Given the description of an element on the screen output the (x, y) to click on. 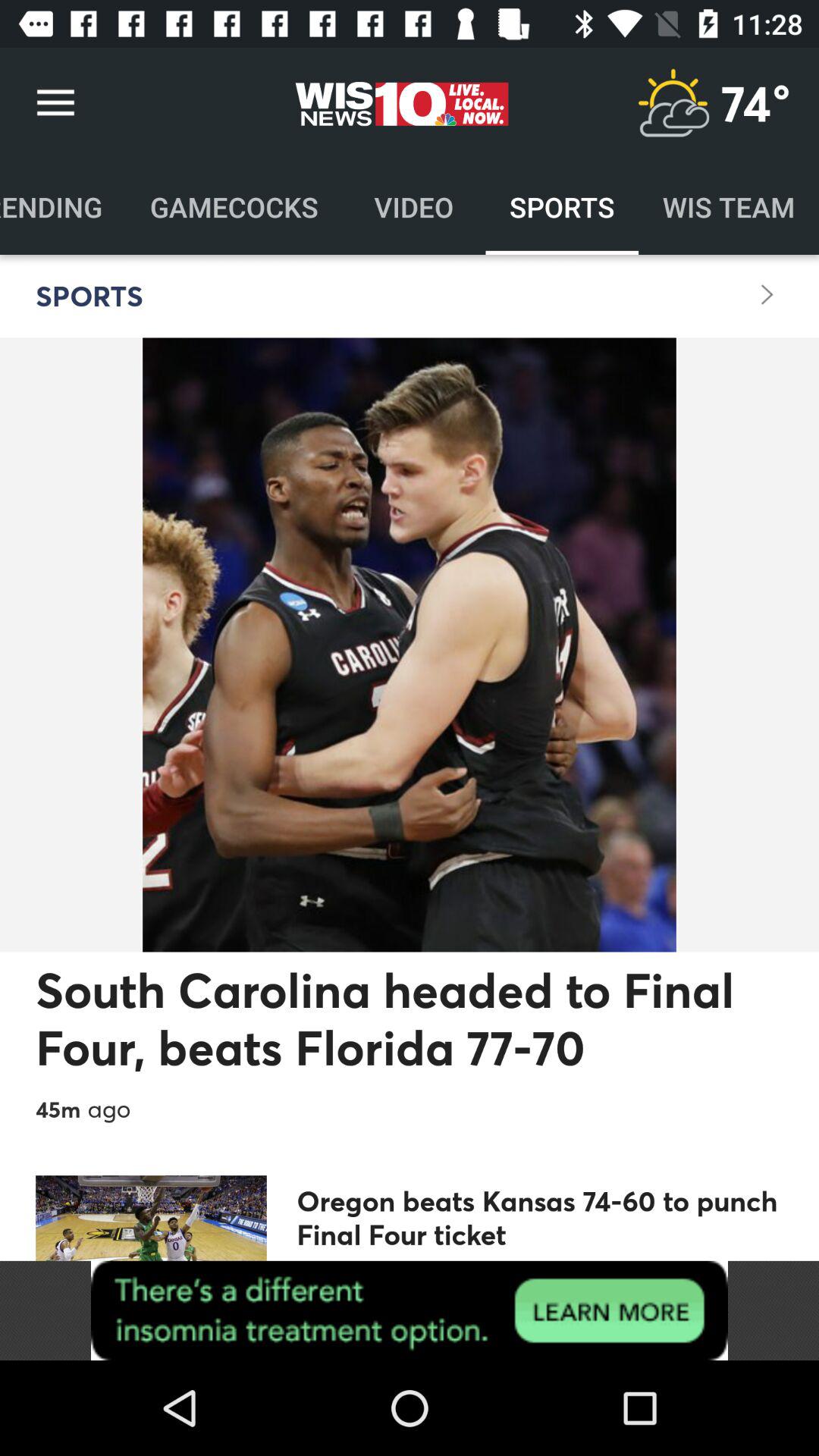
visit insomnia website (409, 1310)
